Given the description of an element on the screen output the (x, y) to click on. 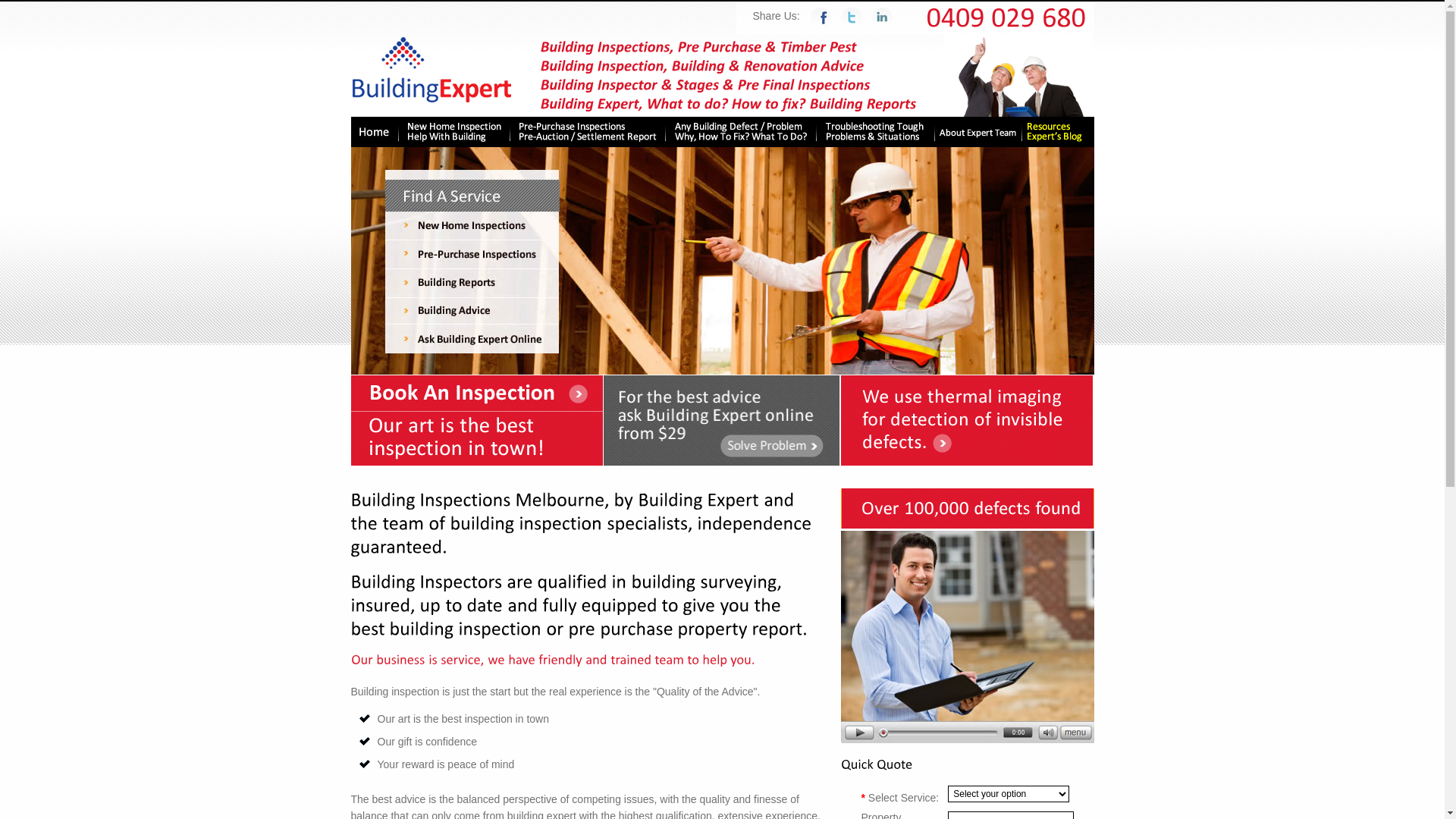
Recommend this website : home on Linkedin Element type: hover (878, 15)
Recommend this website : home on Facebook Element type: hover (820, 15)
Tweet this website : home on Twitter Element type: hover (851, 15)
